Given the description of an element on the screen output the (x, y) to click on. 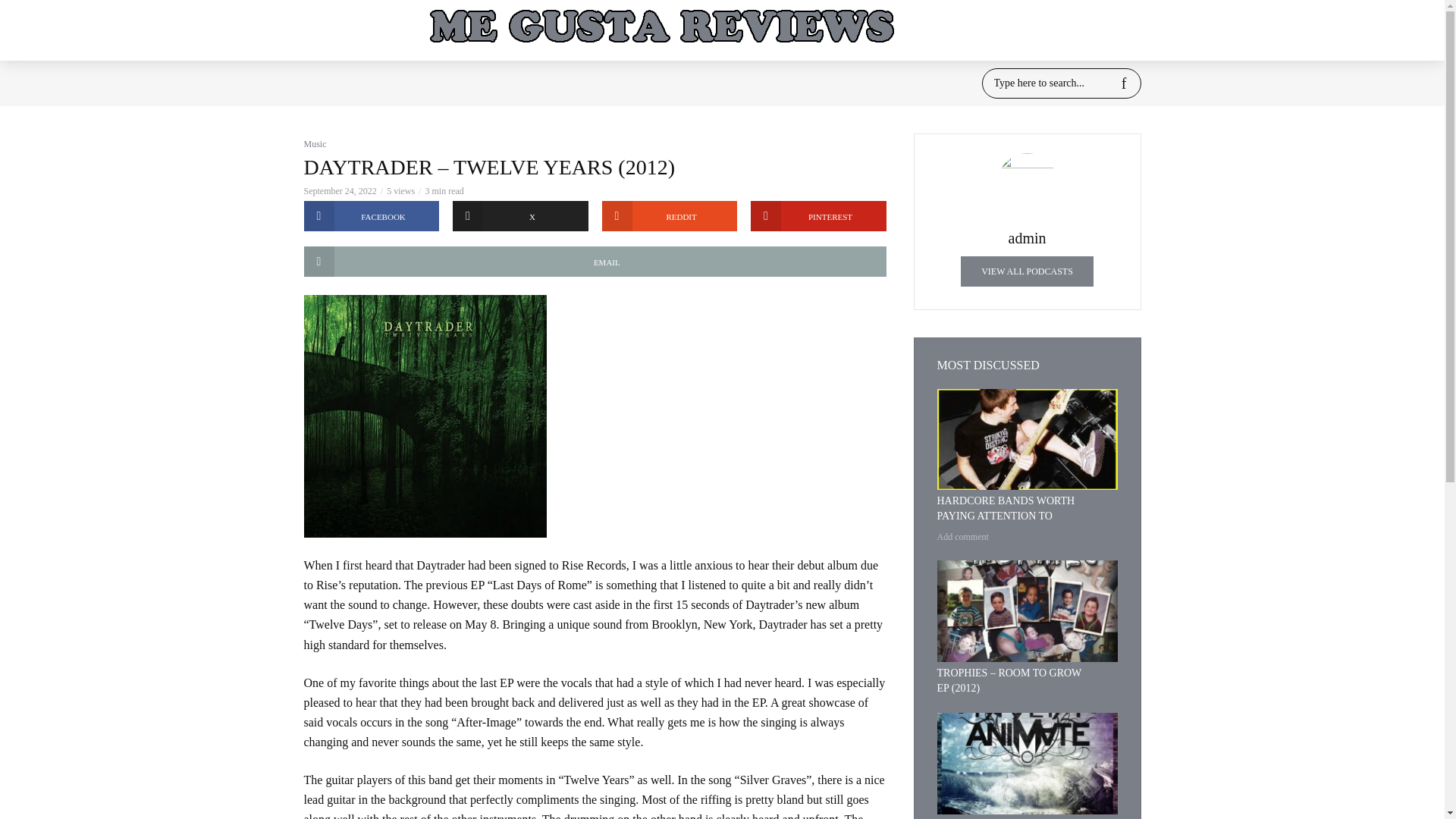
Music (314, 143)
FACEBOOK (370, 215)
Hardcore Bands Worth Paying Attention To (1027, 439)
